Given the description of an element on the screen output the (x, y) to click on. 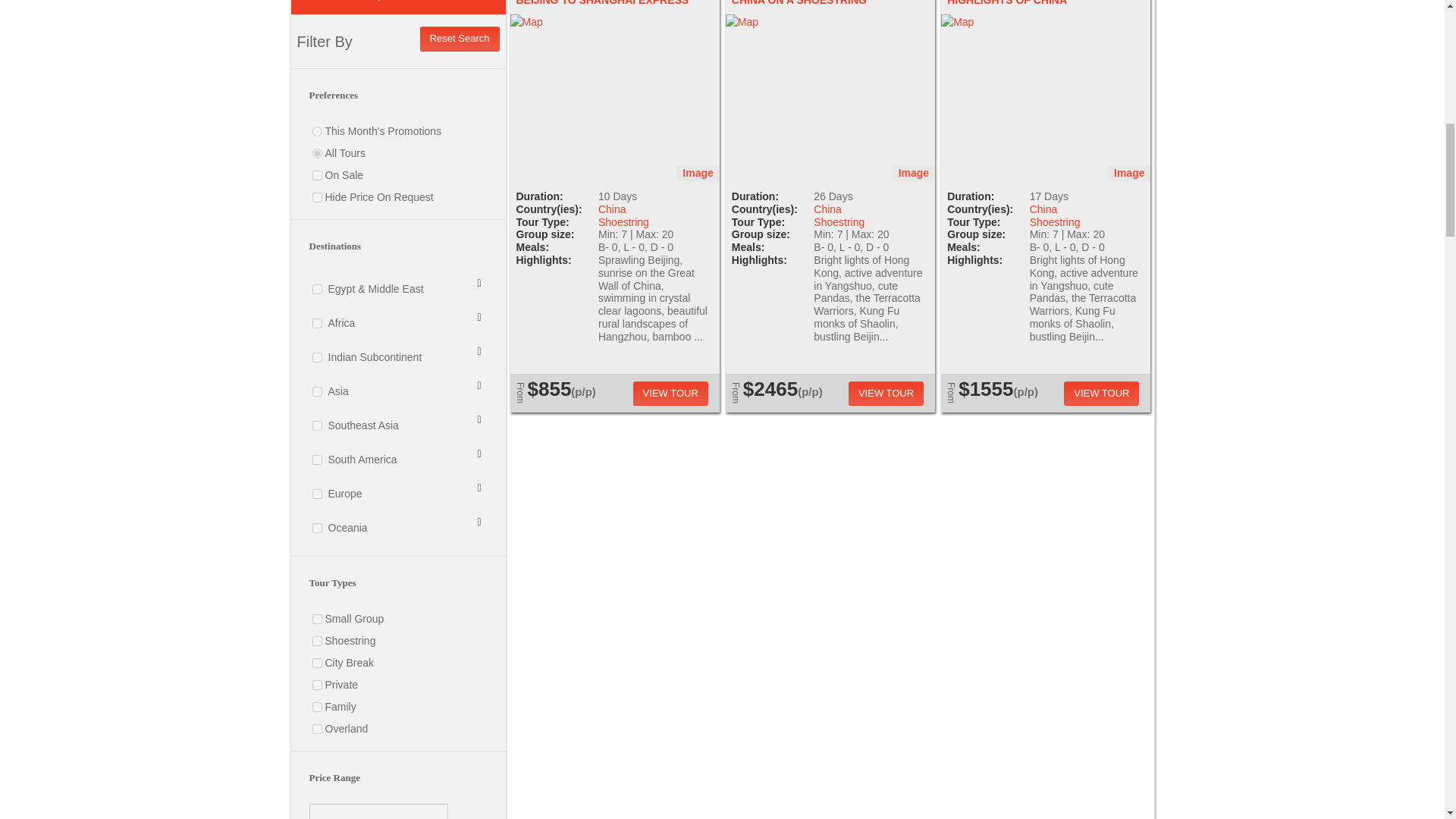
on (317, 391)
2 (317, 641)
Book Now (1101, 393)
1 (317, 619)
on (317, 357)
on (317, 460)
Y (317, 175)
5 (317, 706)
on (317, 323)
4 (317, 685)
on (317, 425)
6 (317, 728)
showall (317, 153)
on (317, 528)
